Given the description of an element on the screen output the (x, y) to click on. 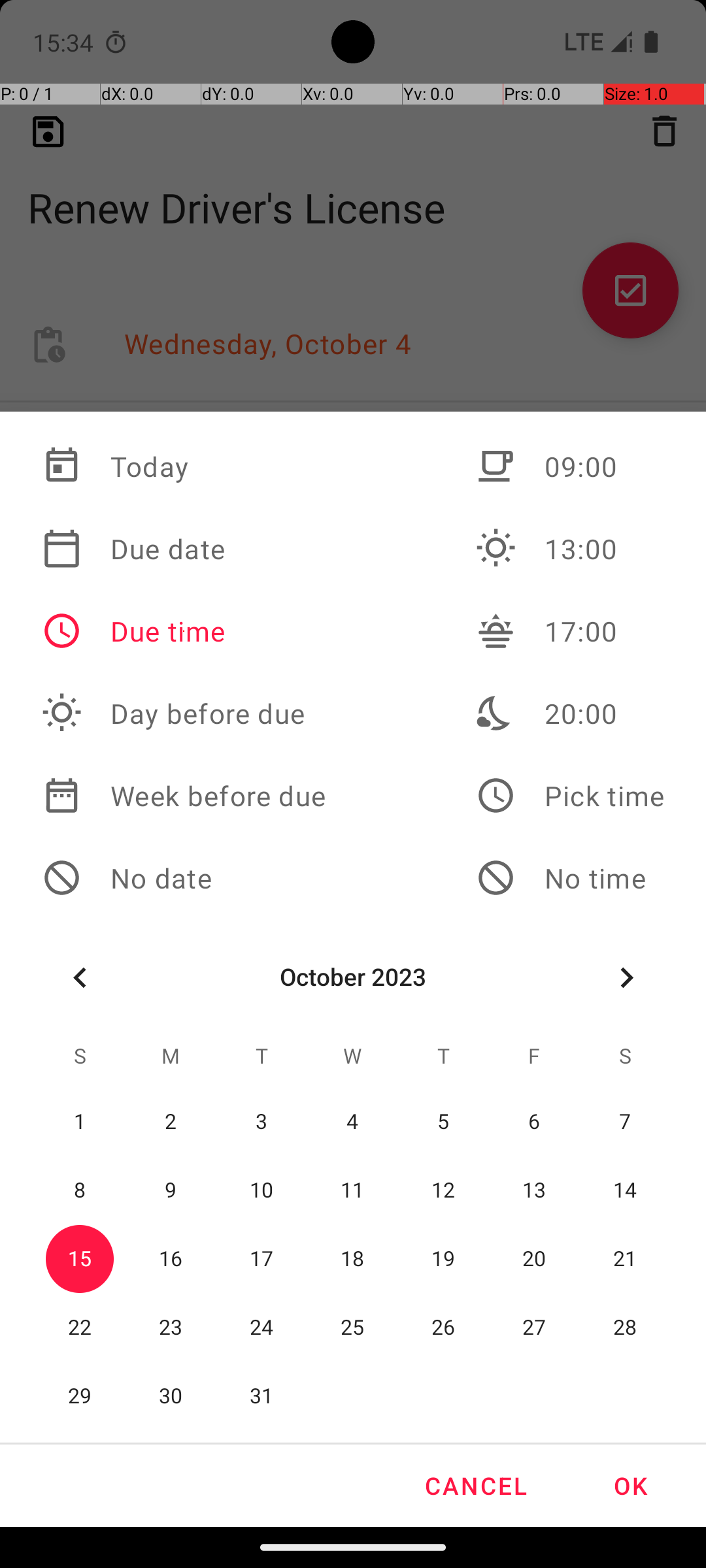
Due date Element type: android.widget.CompoundButton (183, 548)
Due time Element type: android.widget.CompoundButton (183, 630)
Day before due Element type: android.widget.CompoundButton (183, 713)
Week before due Element type: android.widget.CompoundButton (183, 795)
